Given the description of an element on the screen output the (x, y) to click on. 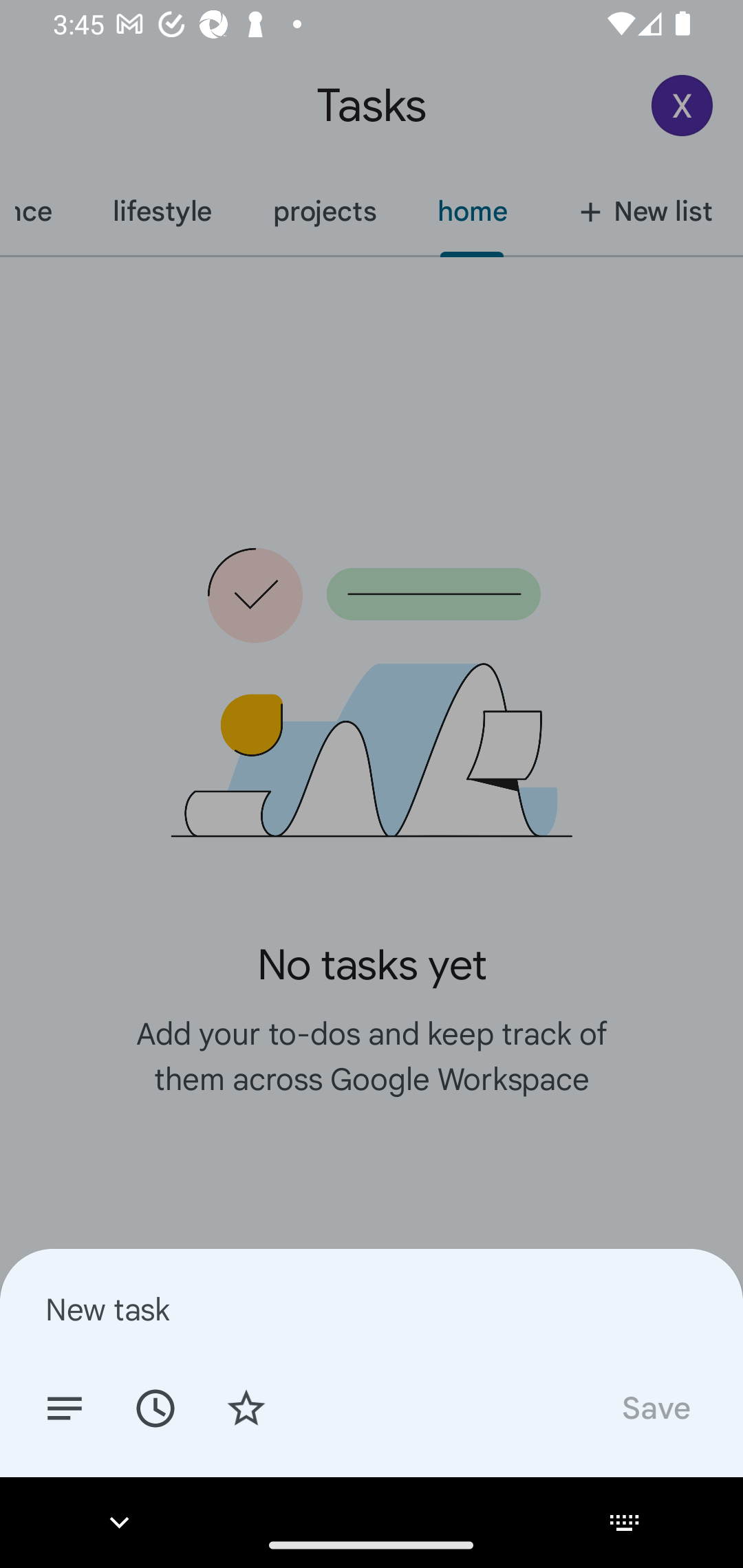
New task (371, 1308)
Save (655, 1407)
Add details (64, 1407)
Set date/time (154, 1407)
Add star (245, 1407)
